Given the description of an element on the screen output the (x, y) to click on. 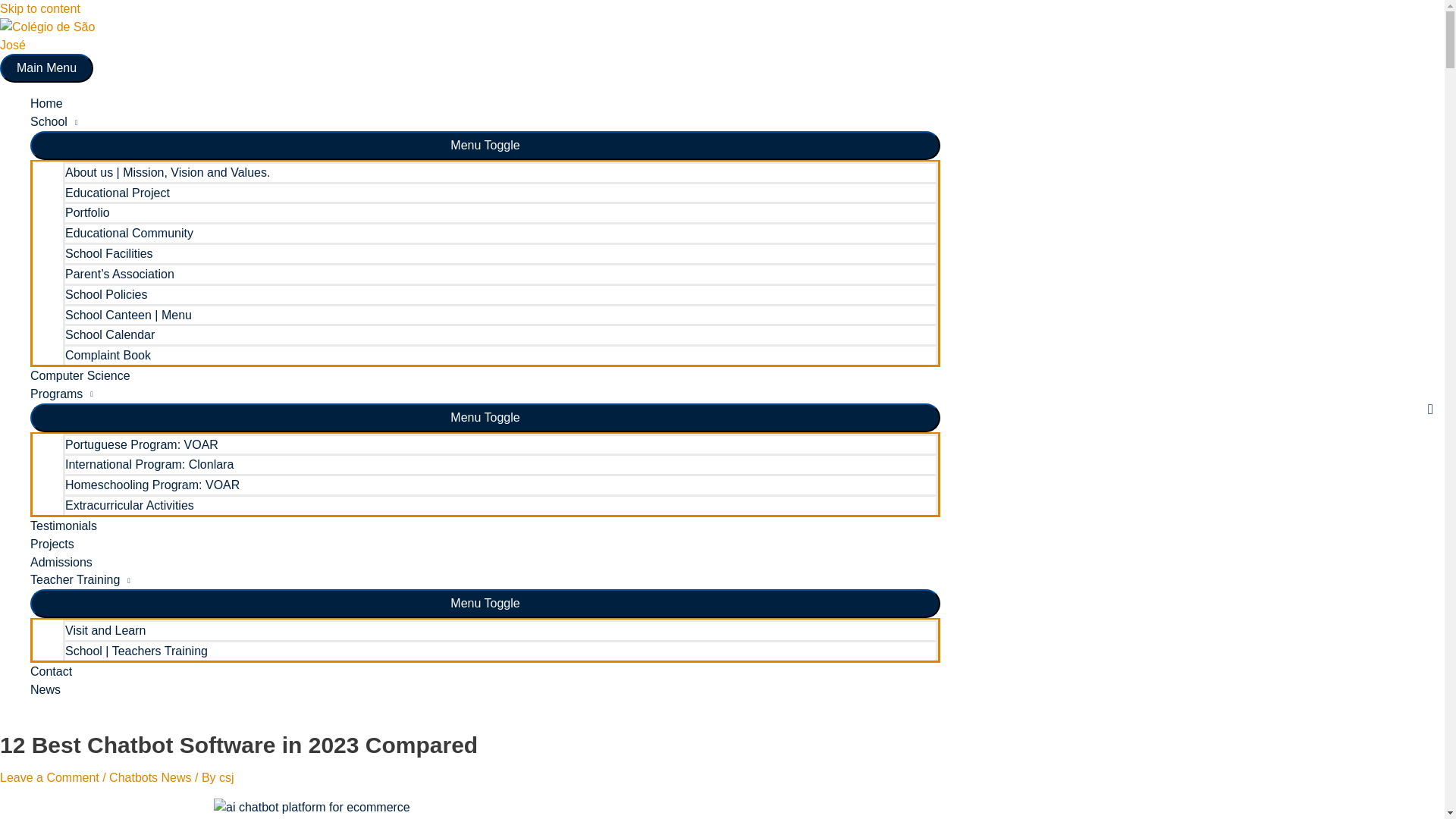
Skip to content (40, 8)
Skip to content (40, 8)
Contact (485, 671)
Main Menu (46, 68)
Visit and Learn (499, 629)
Admissions (485, 562)
School (485, 122)
View all posts by csj (226, 777)
Computer Science (485, 375)
Portuguese Program: VOAR (499, 444)
Testimonials (485, 525)
Home (485, 104)
Homeschooling Program: VOAR (499, 484)
Menu Toggle (485, 417)
News (485, 689)
